Given the description of an element on the screen output the (x, y) to click on. 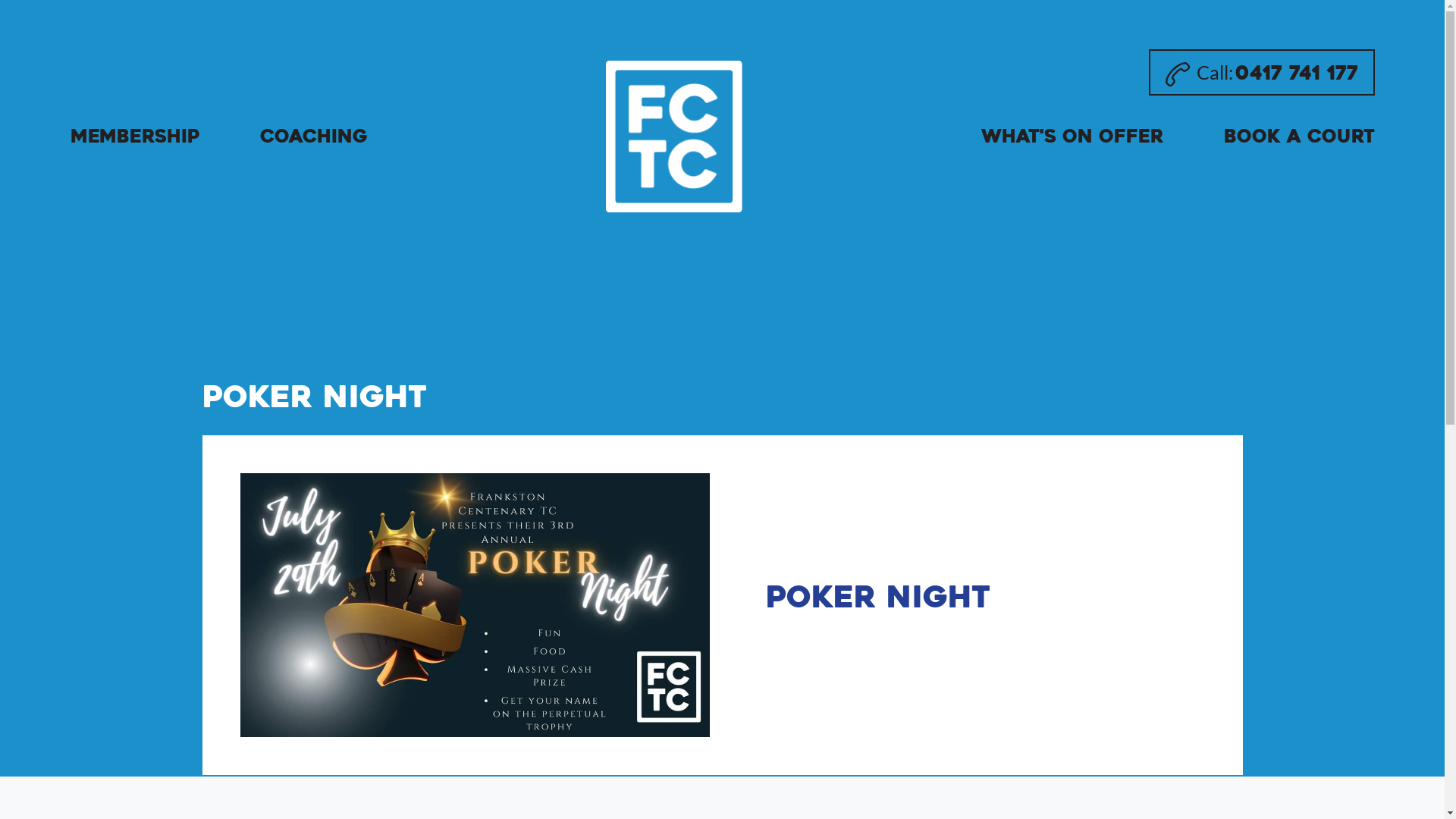
COACHING Element type: text (313, 136)
Call: 0417 741 177 Element type: text (1261, 72)
MEMBERSHIP Element type: text (133, 136)
WHAT'S ON OFFER Element type: text (1072, 136)
BOOK A COURT Element type: text (1298, 137)
